Given the description of an element on the screen output the (x, y) to click on. 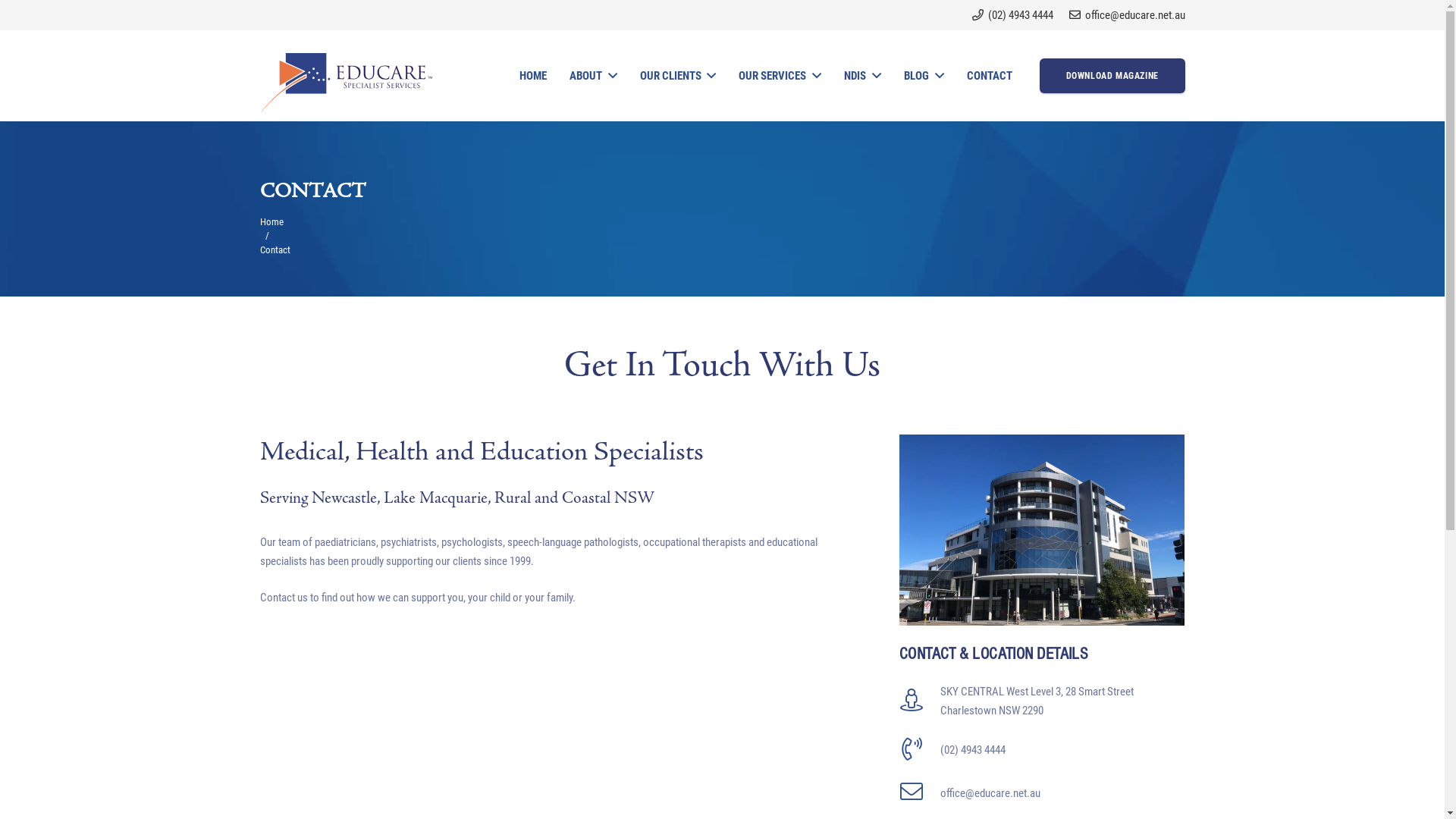
BLOG Element type: text (923, 75)
ABOUT Element type: text (593, 75)
NDIS Element type: text (862, 75)
IMG_2198-e Element type: hover (1042, 529)
DOWNLOAD MAGAZINE Element type: text (1112, 75)
office@educare.net.au Element type: text (1127, 14)
(02) 4943 4444 Element type: text (1012, 14)
OUR CLIENTS Element type: text (678, 75)
OUR SERVICES Element type: text (779, 75)
(02) 4943 4444 Element type: text (972, 749)
CONTACT Element type: text (989, 75)
office@educare.net.au Element type: text (990, 793)
Contact Element type: text (274, 249)
HOME Element type: text (533, 75)
Home Element type: text (270, 221)
